Given the description of an element on the screen output the (x, y) to click on. 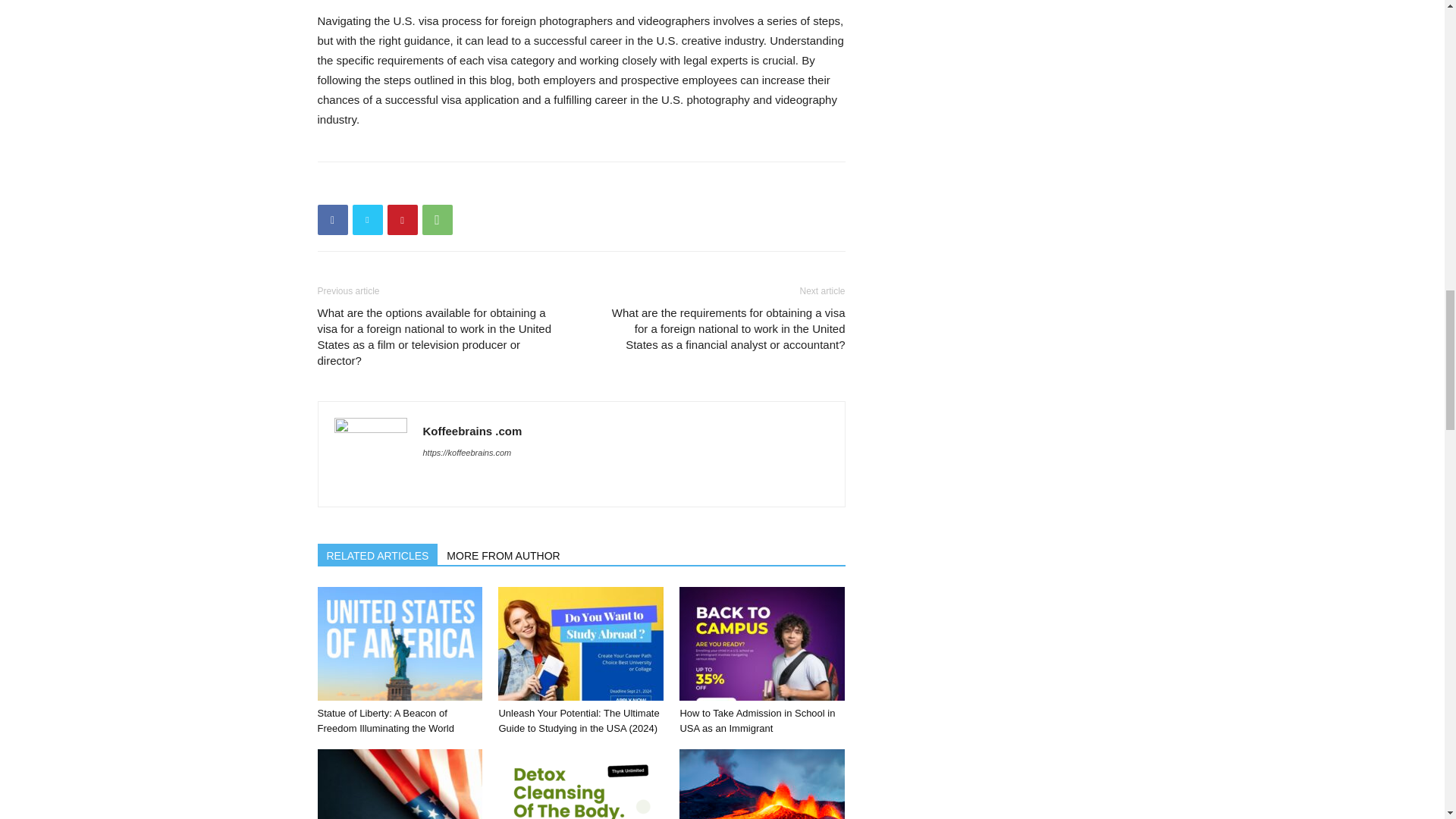
Facebook (332, 219)
Pinterest (401, 219)
Twitter (366, 219)
